Given the description of an element on the screen output the (x, y) to click on. 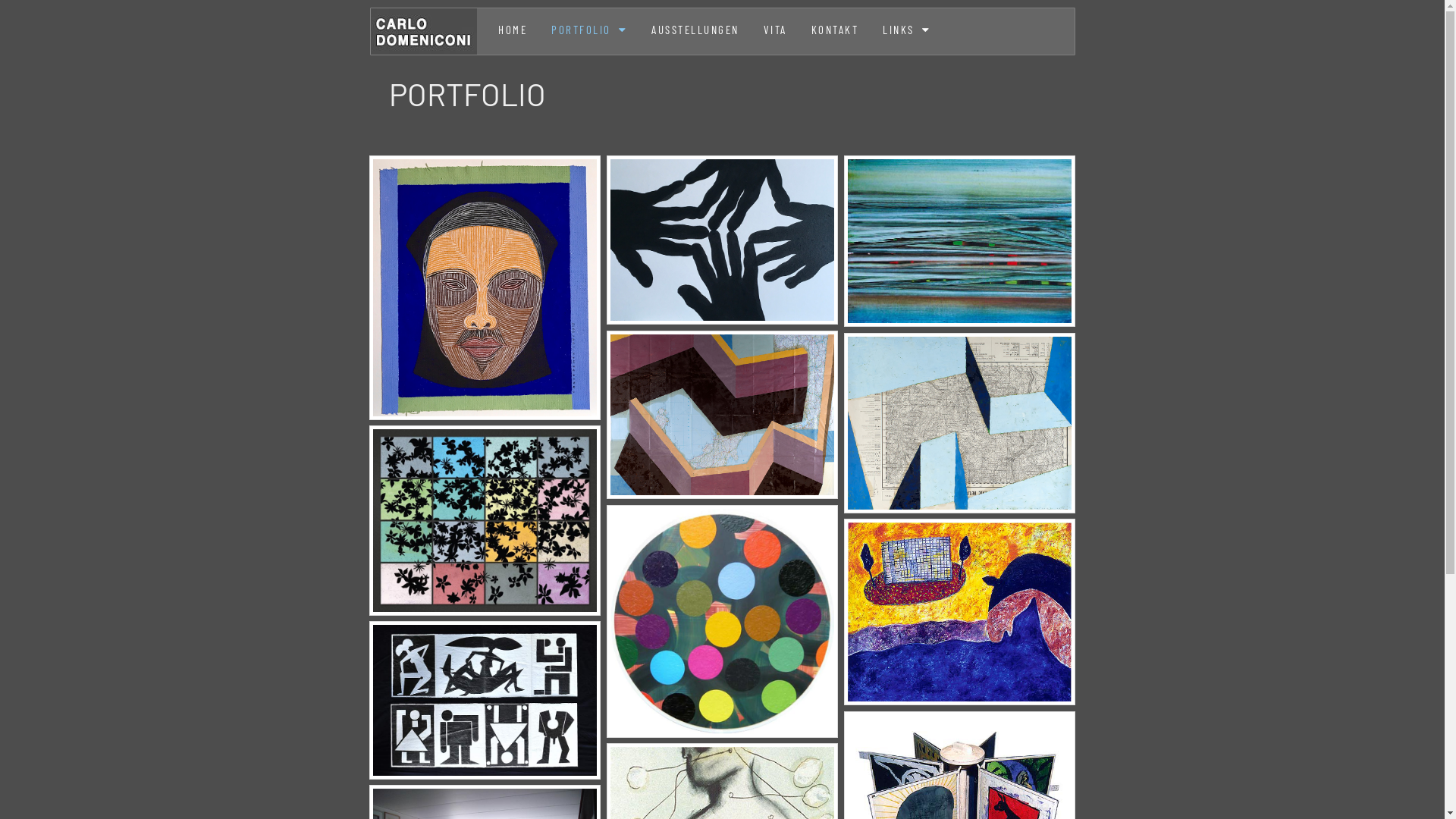
HOME Element type: text (512, 29)
Hinterglas Element type: hover (485, 520)
Maskerade Element type: hover (485, 287)
LINKS Element type: text (906, 29)
AUSSTELLUNGEN Element type: text (695, 29)
Schatten / Karten Spanien Element type: hover (959, 422)
Tondi Element type: hover (722, 621)
Bilder Element type: hover (959, 611)
PORTFOLIO Element type: text (589, 29)
logoneu Element type: hover (423, 31)
Schatten / Karten Europa Element type: hover (722, 414)
Holzschatulle Element type: hover (485, 699)
Energiefelder Element type: hover (959, 241)
Zeichnungen 2019 Element type: hover (722, 239)
VITA Element type: text (775, 29)
KONTAKT Element type: text (835, 29)
